Given the description of an element on the screen output the (x, y) to click on. 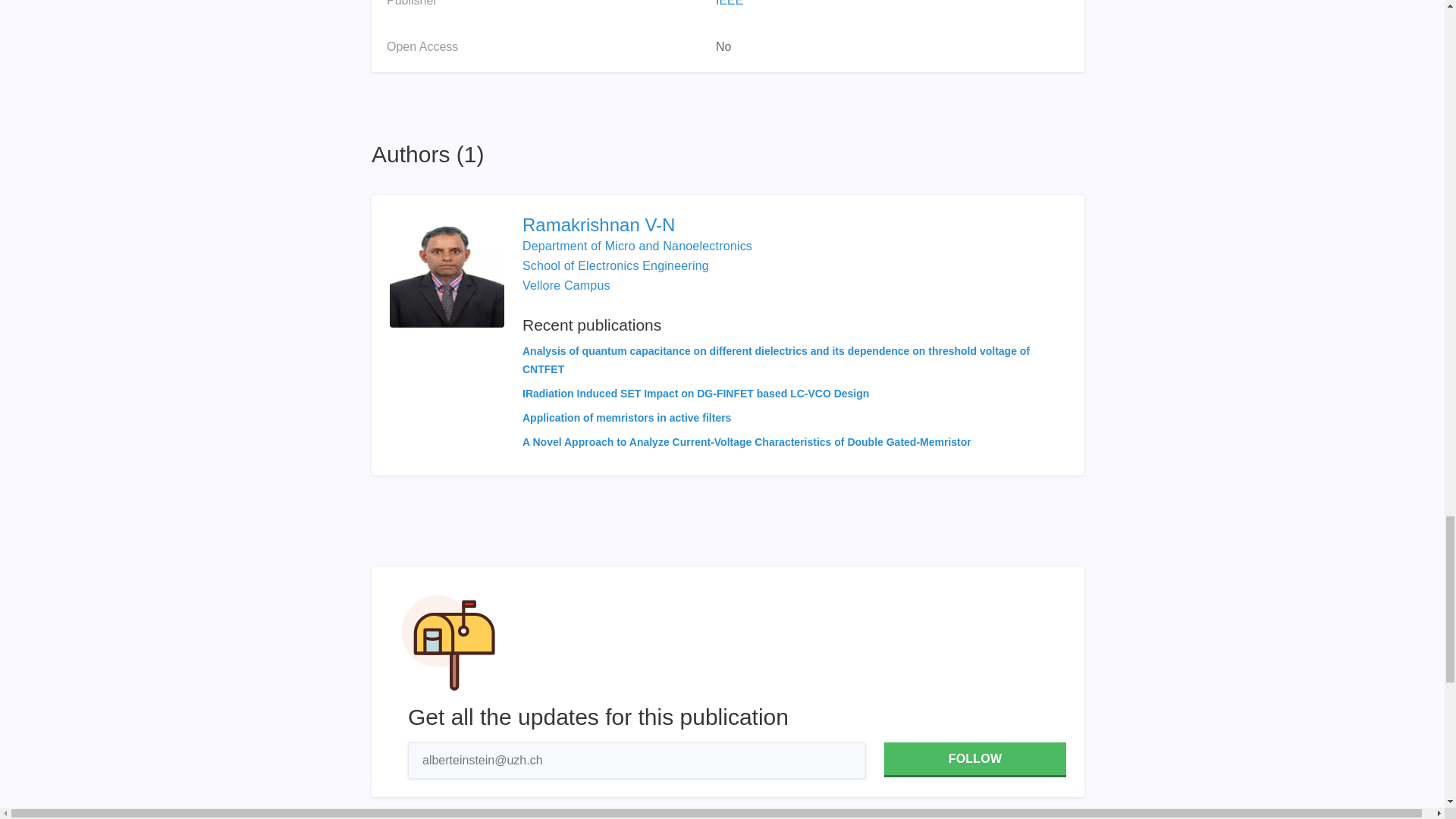
School of Electronics Engineering (615, 265)
Ramakrishnan V-N (793, 224)
Department of Micro and Nanoelectronics (637, 245)
IEEE (729, 3)
Application of memristors in active filters (626, 417)
Subscribe form hero illustration (448, 642)
Vellore Campus (566, 285)
